Given the description of an element on the screen output the (x, y) to click on. 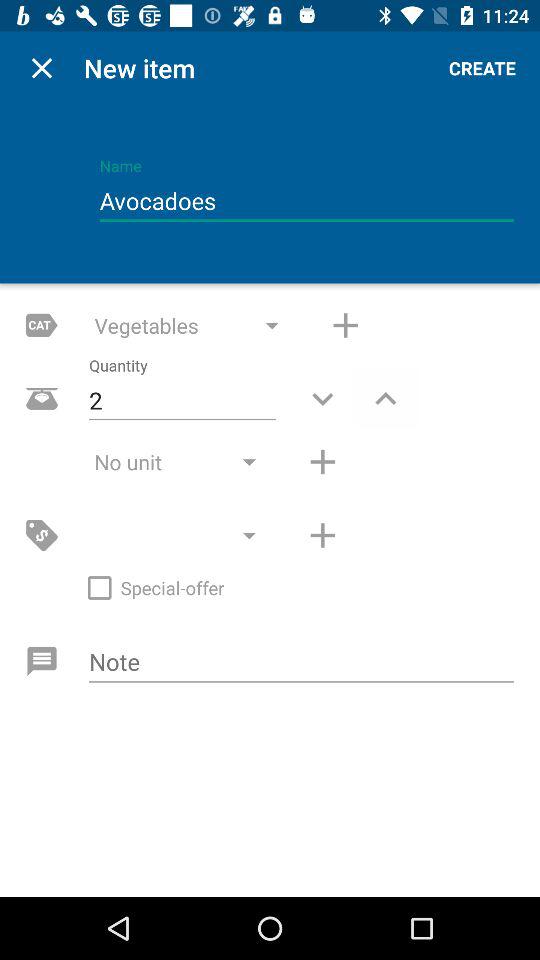
write notes (301, 663)
